Given the description of an element on the screen output the (x, y) to click on. 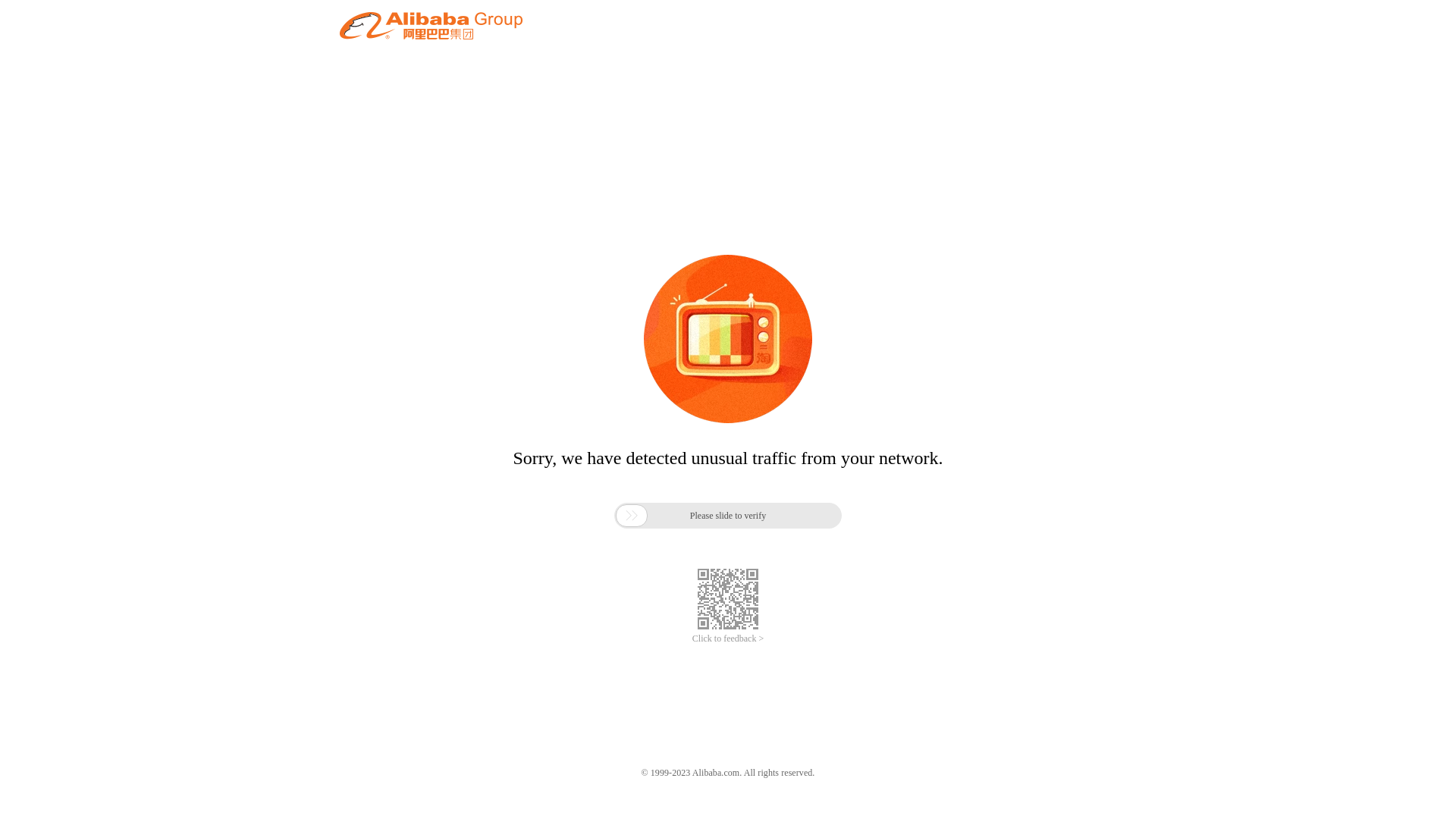
Click to feedback > Element type: text (727, 638)
